Given the description of an element on the screen output the (x, y) to click on. 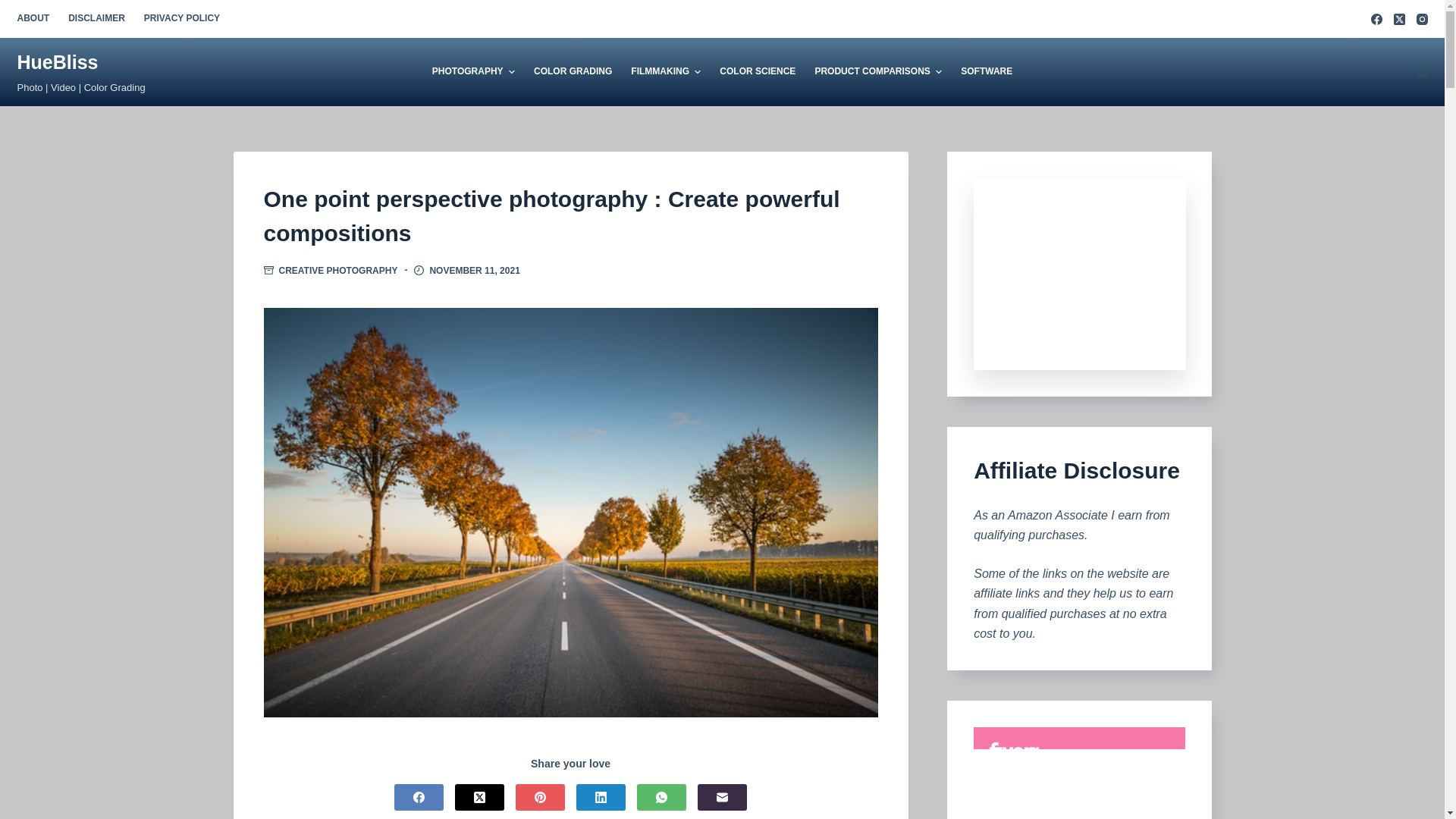
PHOTOGRAPHY (478, 71)
DISCLAIMER (97, 18)
COLOR SCIENCE (757, 71)
FILMMAKING (665, 71)
Skip to content (15, 7)
ABOUT (37, 18)
HueBliss (56, 61)
PRIVACY POLICY (176, 18)
COLOR GRADING (572, 71)
